Given the description of an element on the screen output the (x, y) to click on. 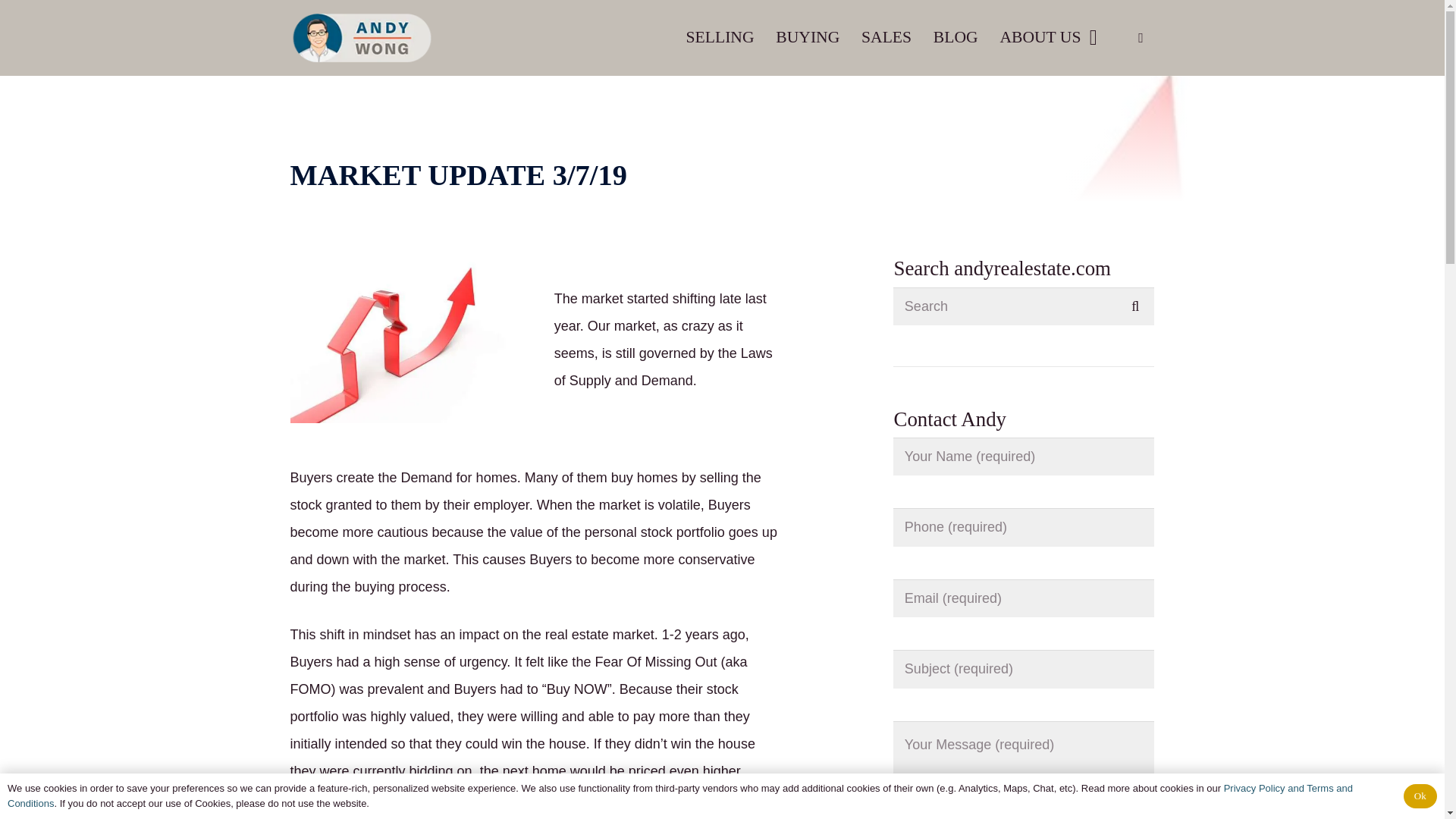
Ok (1420, 795)
ABOUT US (1048, 36)
BUYING (807, 36)
BLOG (954, 36)
Facebook (1140, 37)
Privacy Policy and Terms and Conditions (679, 795)
SELLING (720, 36)
SALES (886, 36)
